Given the description of an element on the screen output the (x, y) to click on. 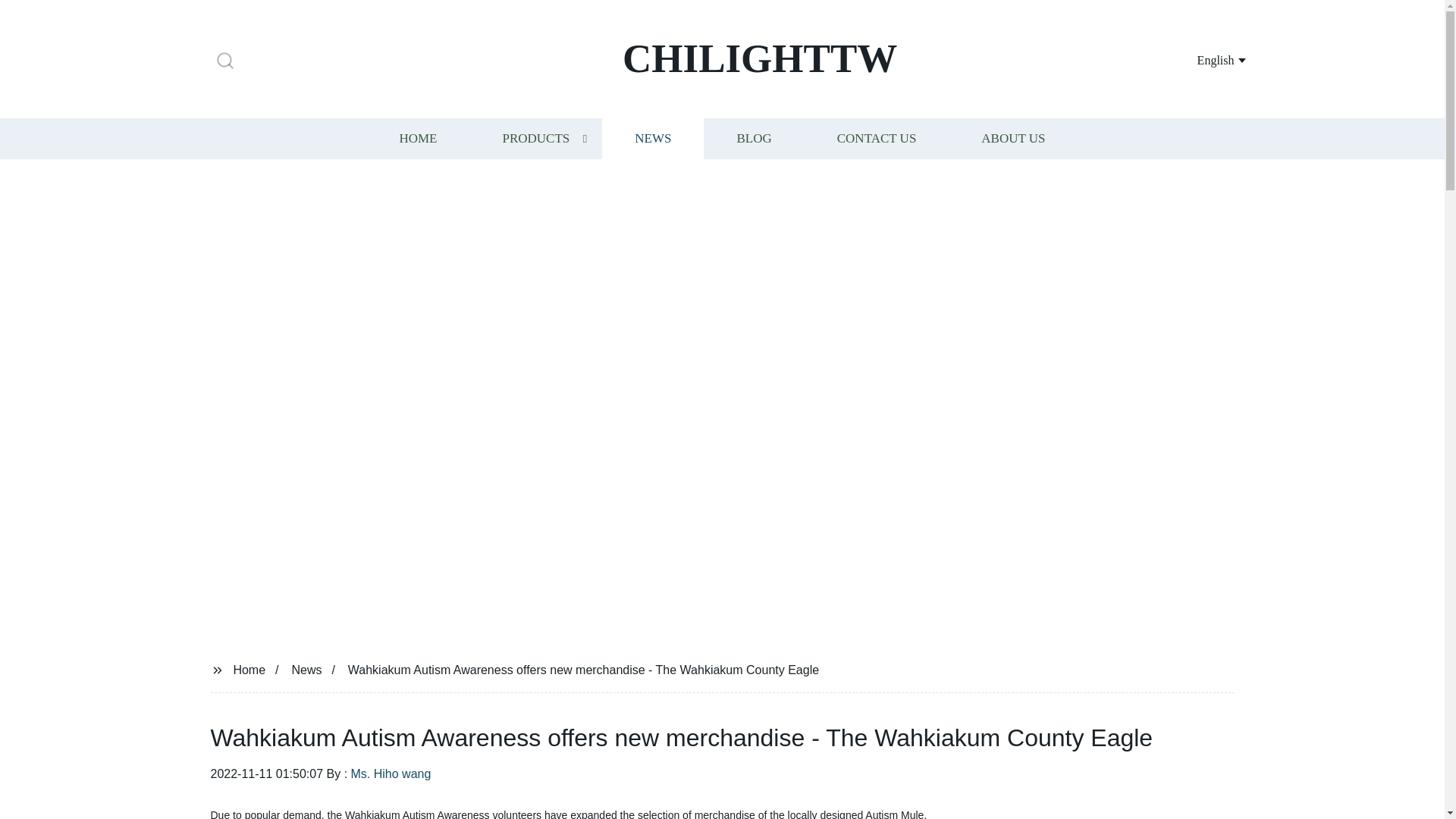
HOME (417, 137)
English (1203, 59)
CONTACT US (877, 137)
English (1203, 59)
NEWS (652, 137)
ABOUT US (1013, 137)
News (306, 668)
BLOG (753, 137)
Home (248, 668)
PRODUCTS (535, 137)
